Given the description of an element on the screen output the (x, y) to click on. 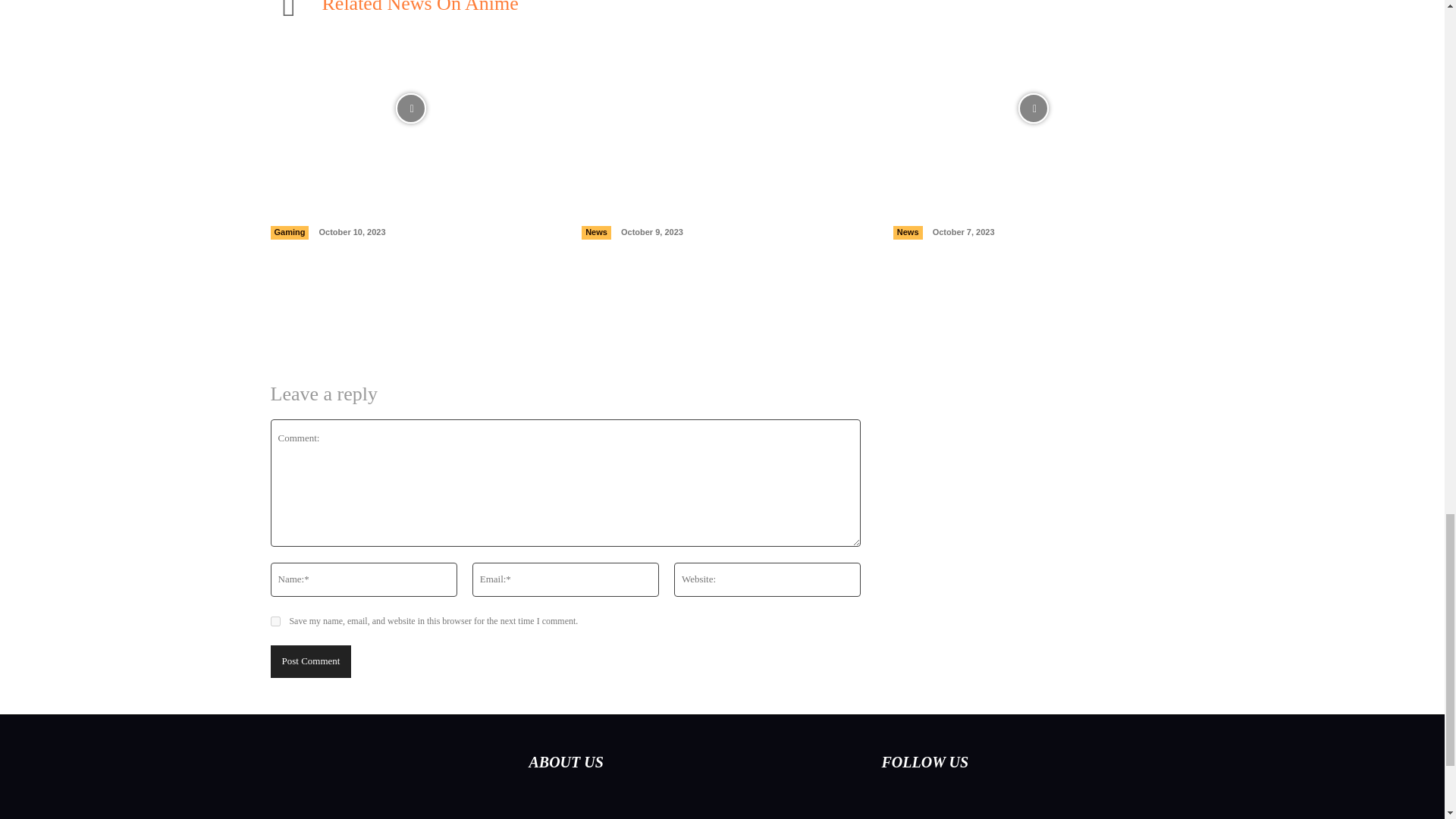
yes (274, 621)
Post Comment (309, 661)
